Given the description of an element on the screen output the (x, y) to click on. 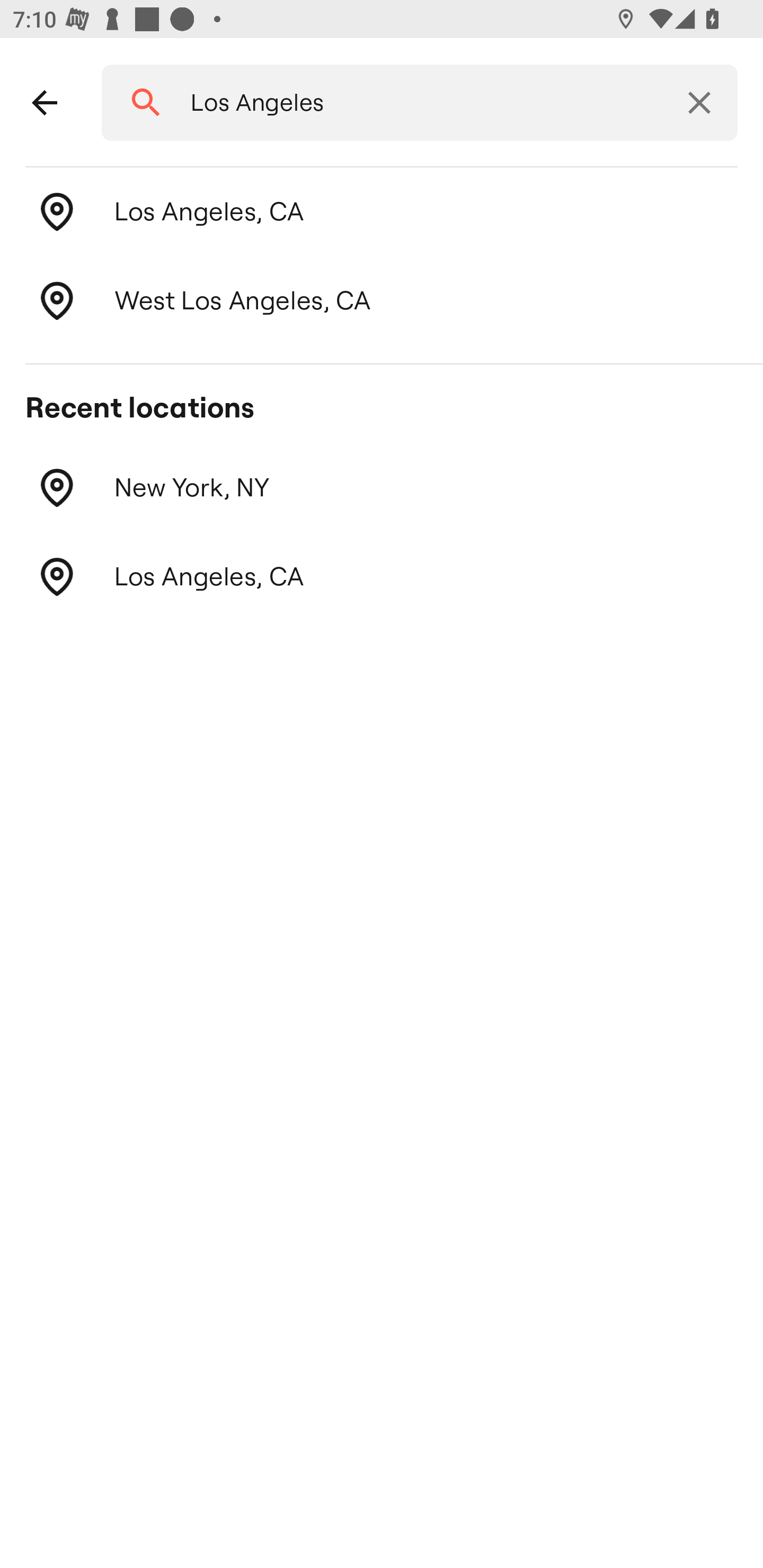
Back (44, 102)
Los Angeles (413, 102)
Clear (699, 102)
Los Angeles, CA (381, 212)
West Los Angeles, CA (381, 300)
New York, NY (381, 488)
Los Angeles, CA (381, 576)
